Given the description of an element on the screen output the (x, y) to click on. 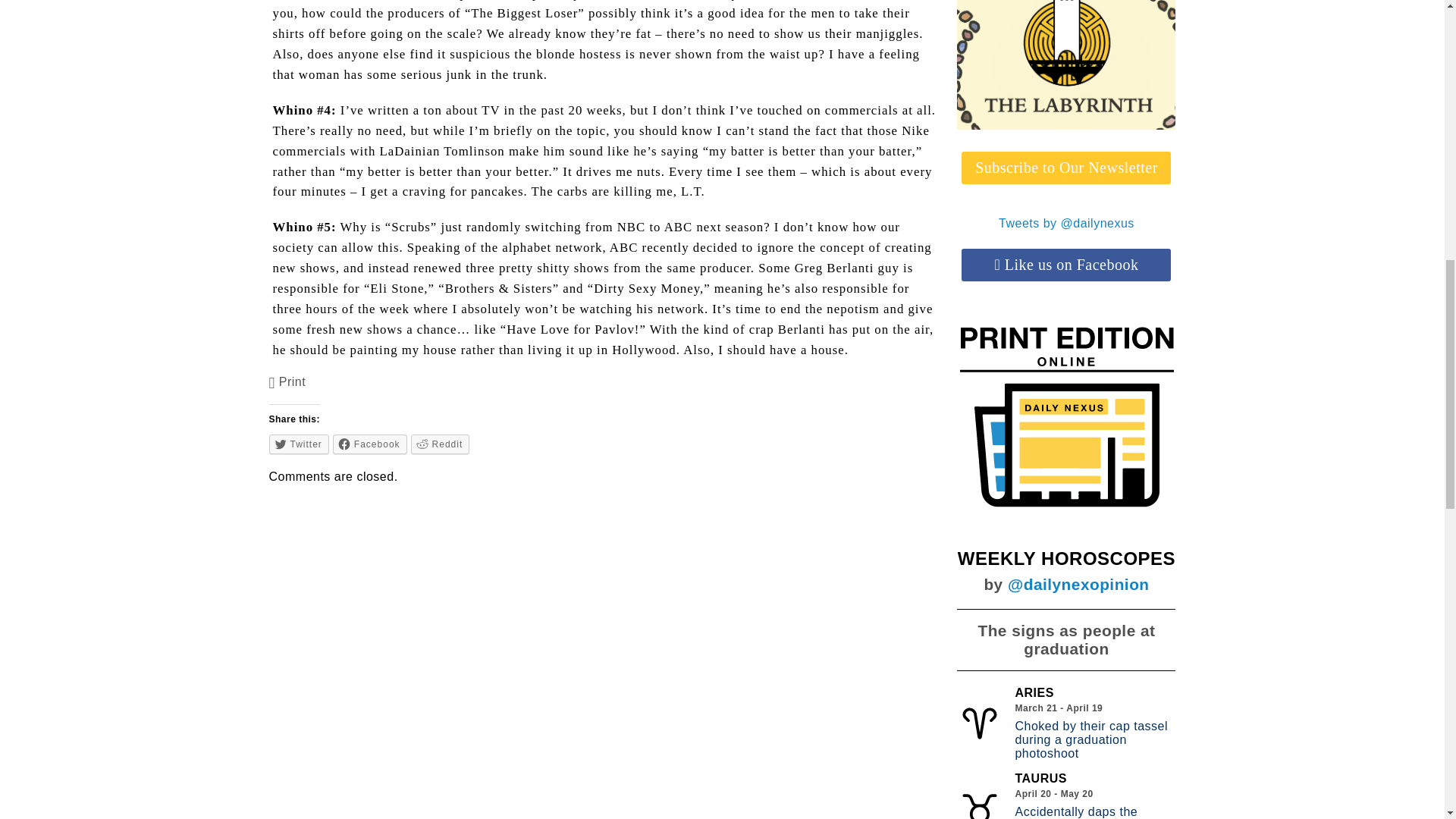
Click to share on Reddit (440, 444)
Click to share on Twitter (299, 444)
Click to share on Facebook (370, 444)
